Given the description of an element on the screen output the (x, y) to click on. 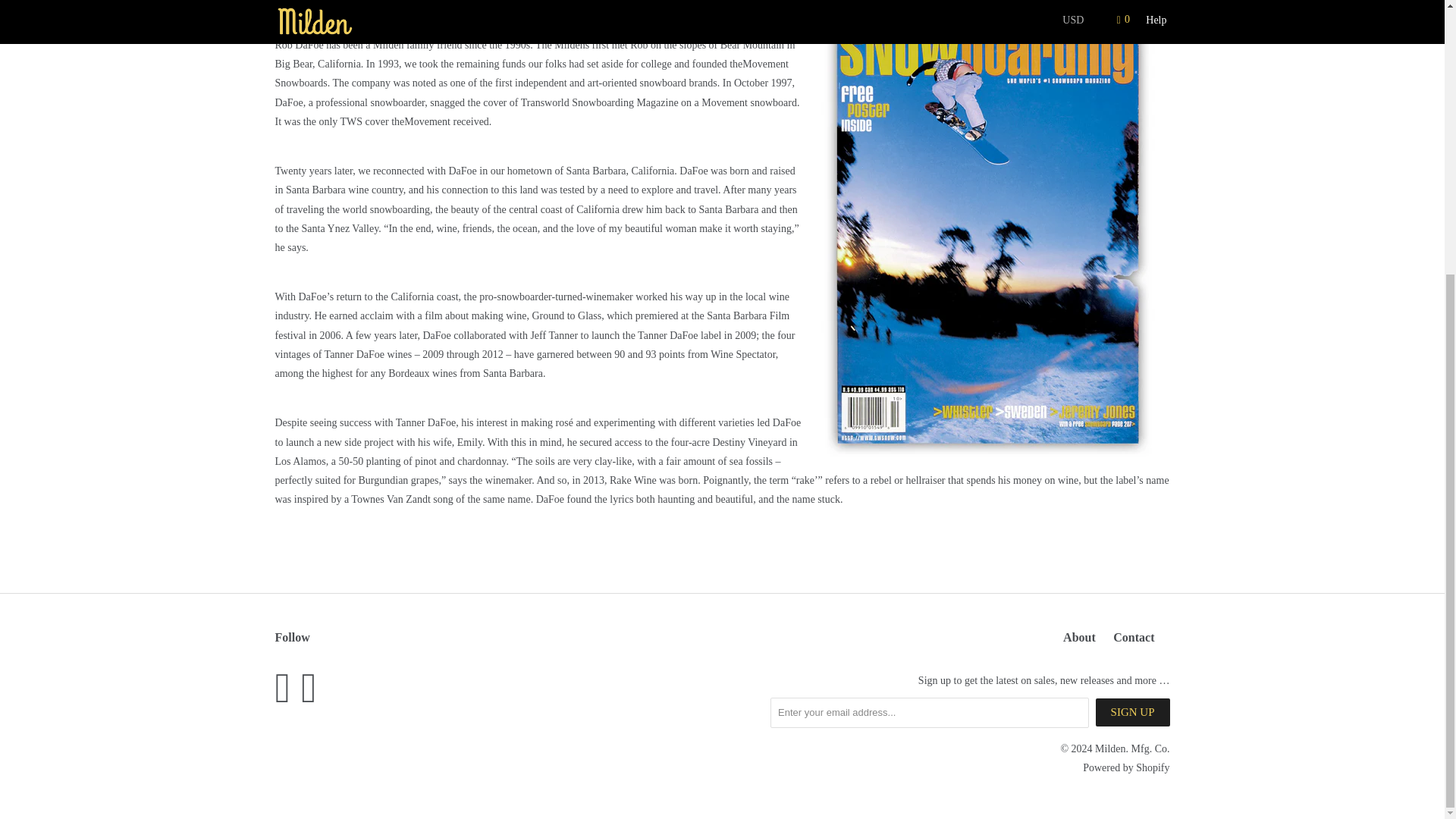
About (1079, 637)
Contact (1133, 637)
Milden (1109, 748)
Powered by Shopify (1126, 767)
Sign Up (1133, 712)
Sign Up (1133, 712)
